Given the description of an element on the screen output the (x, y) to click on. 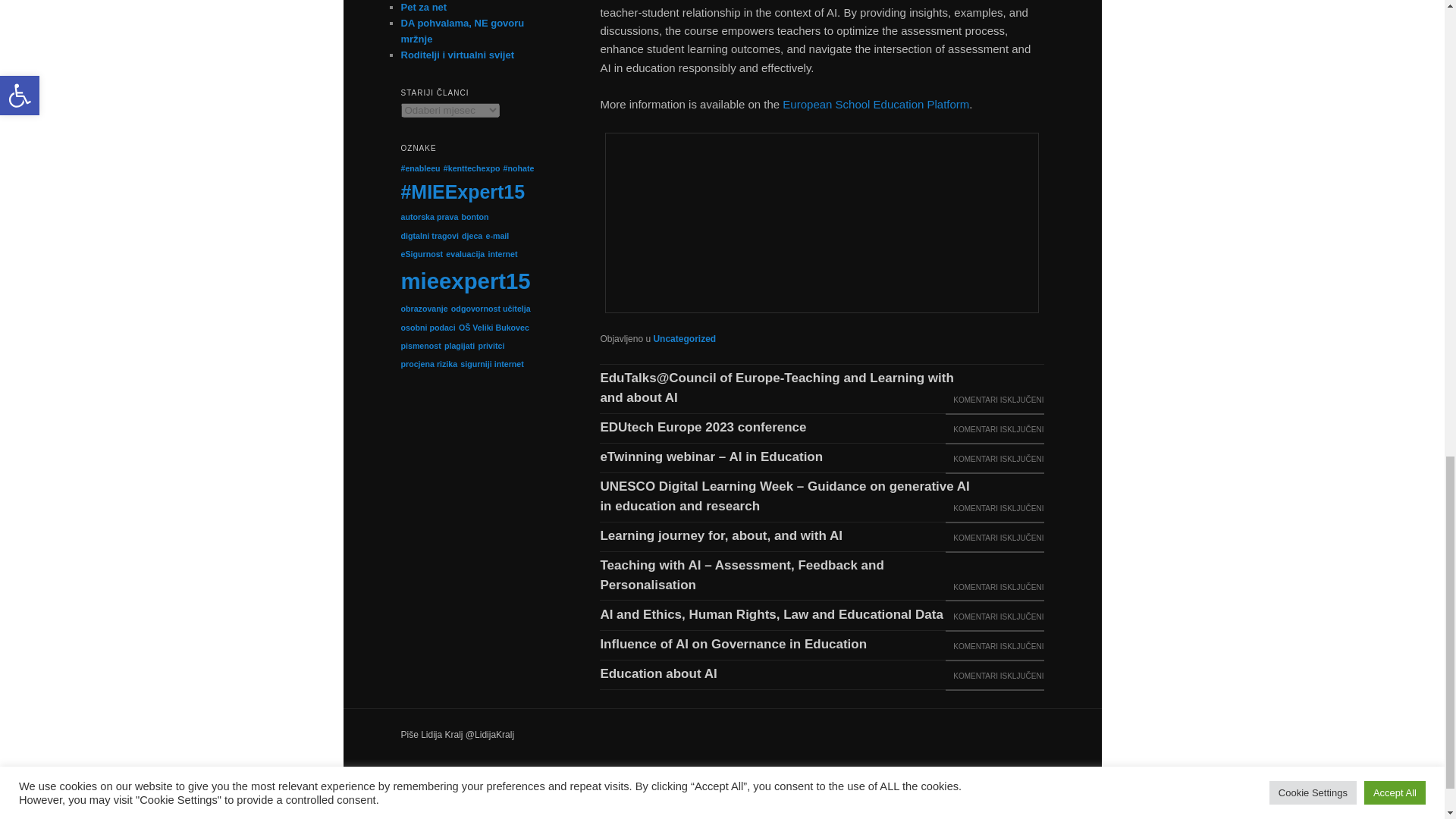
Uncategorized (684, 338)
European School Education Platform (876, 103)
Education about AI (659, 674)
Learning journey for, about, and with AI (721, 536)
AI and Ethics, Human Rights, Law and Educational Data (771, 615)
Influence of AI on Governance in Education (734, 645)
EDUtech Europe 2023 conference (704, 427)
